Given the description of an element on the screen output the (x, y) to click on. 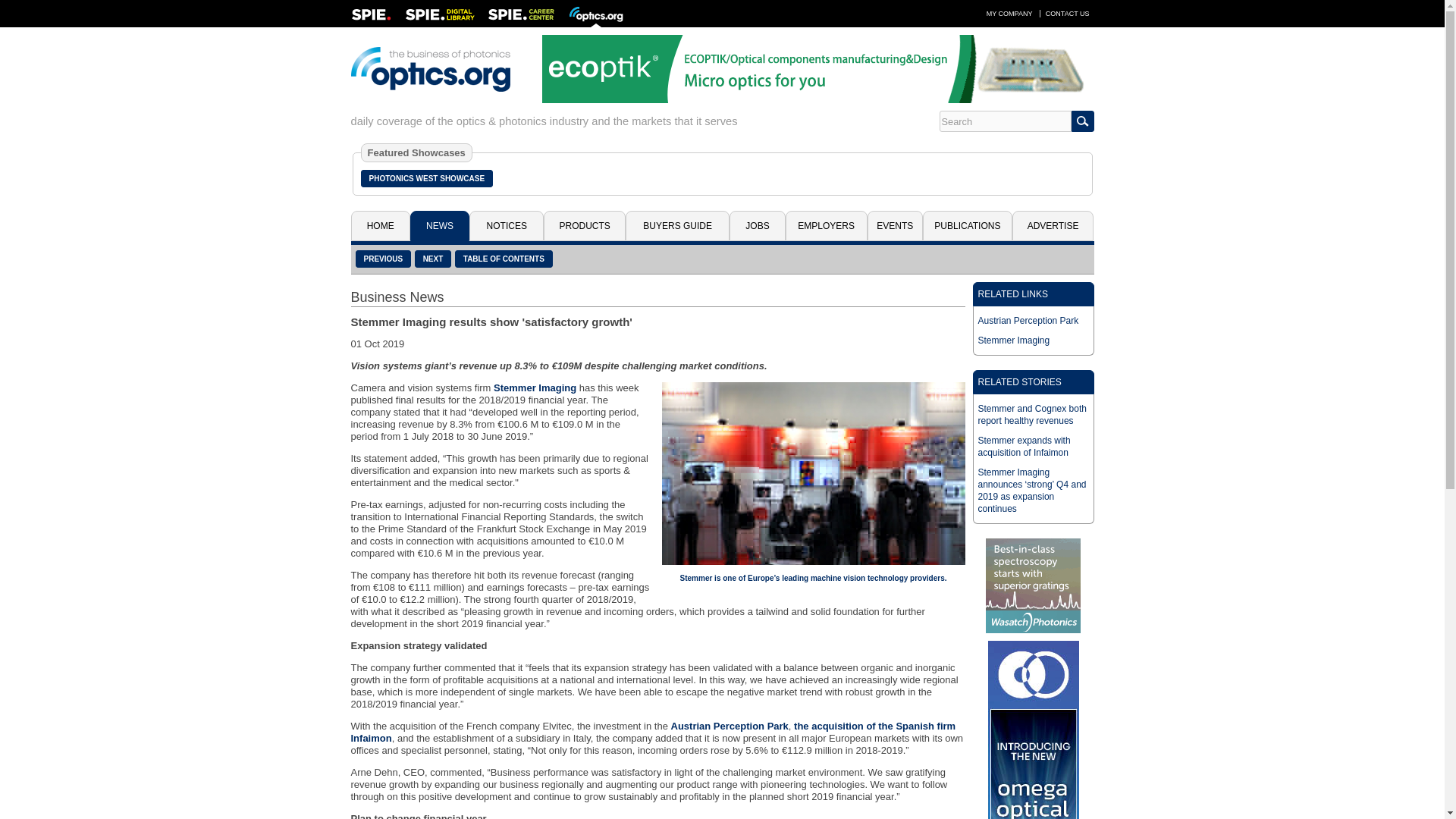
PRODUCTS (584, 225)
PHOTONICS WEST SHOWCASE (427, 178)
HOME (379, 225)
Search (1004, 120)
BUYERS GUIDE (677, 225)
NOTICES (505, 225)
JOBS (757, 225)
NEWS (439, 225)
CONTACT US (1067, 13)
MY COMPANY (1008, 13)
